Given the description of an element on the screen output the (x, y) to click on. 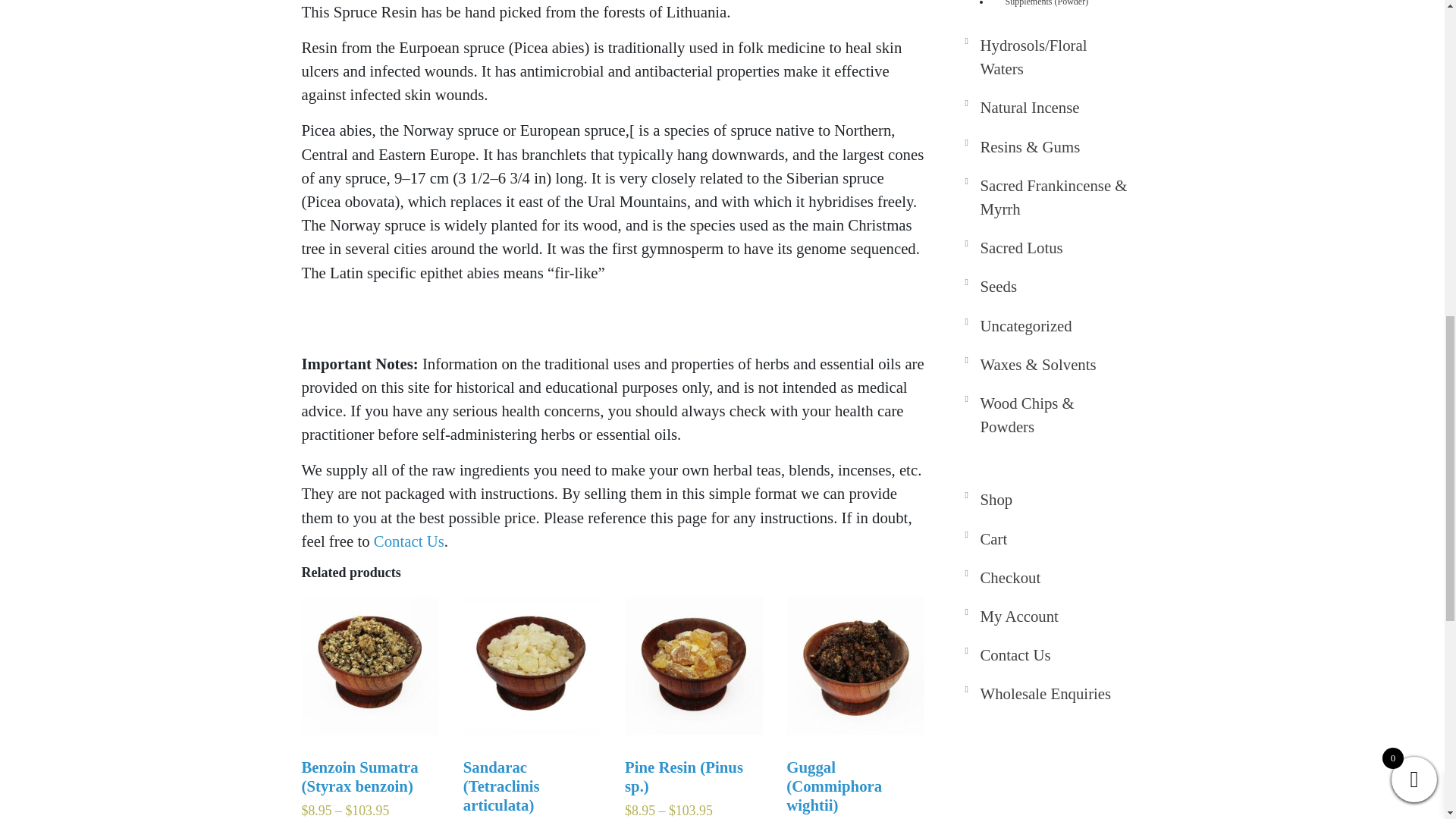
Contact Us (409, 540)
